Given the description of an element on the screen output the (x, y) to click on. 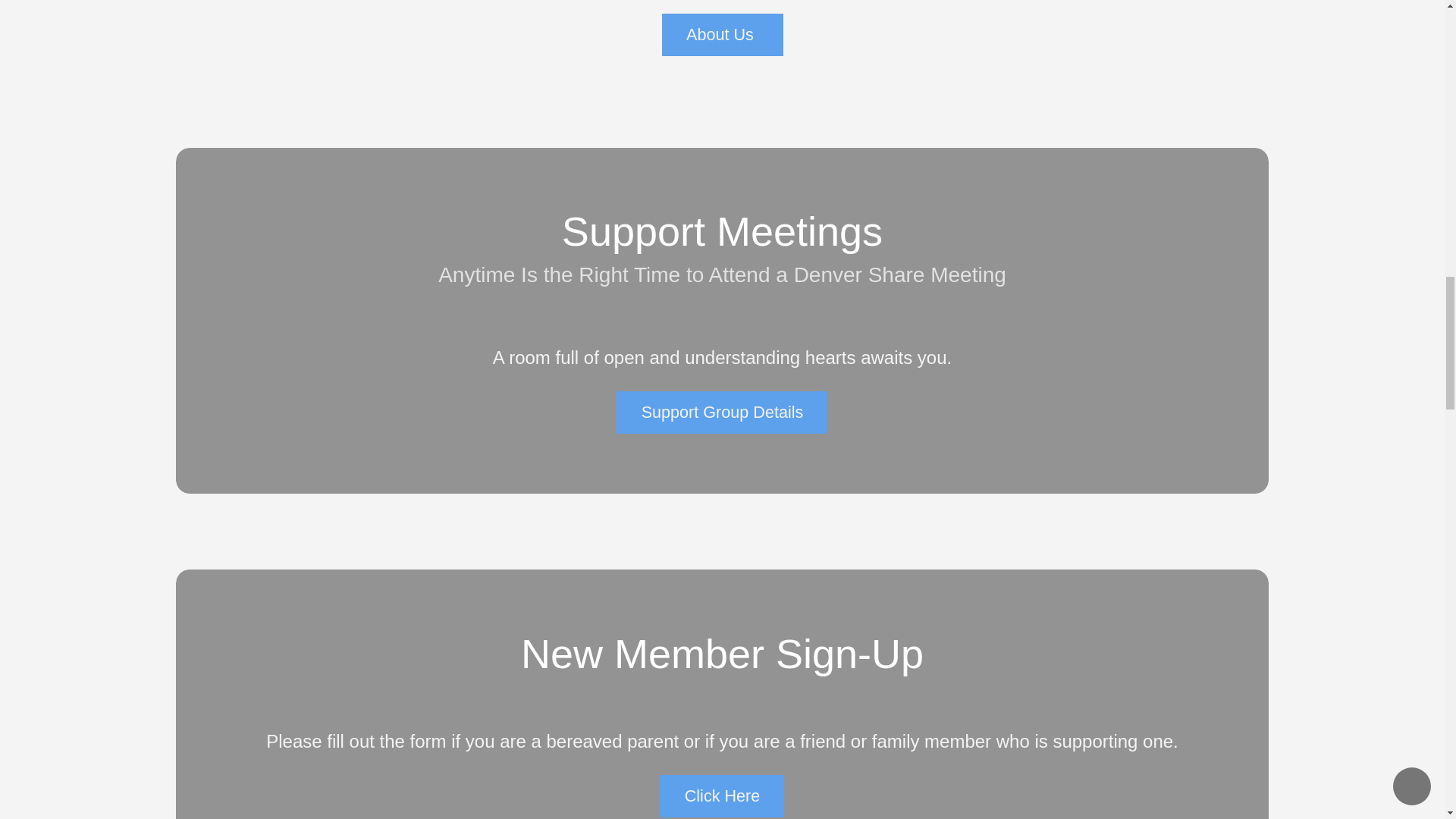
About Us  (722, 34)
